Given the description of an element on the screen output the (x, y) to click on. 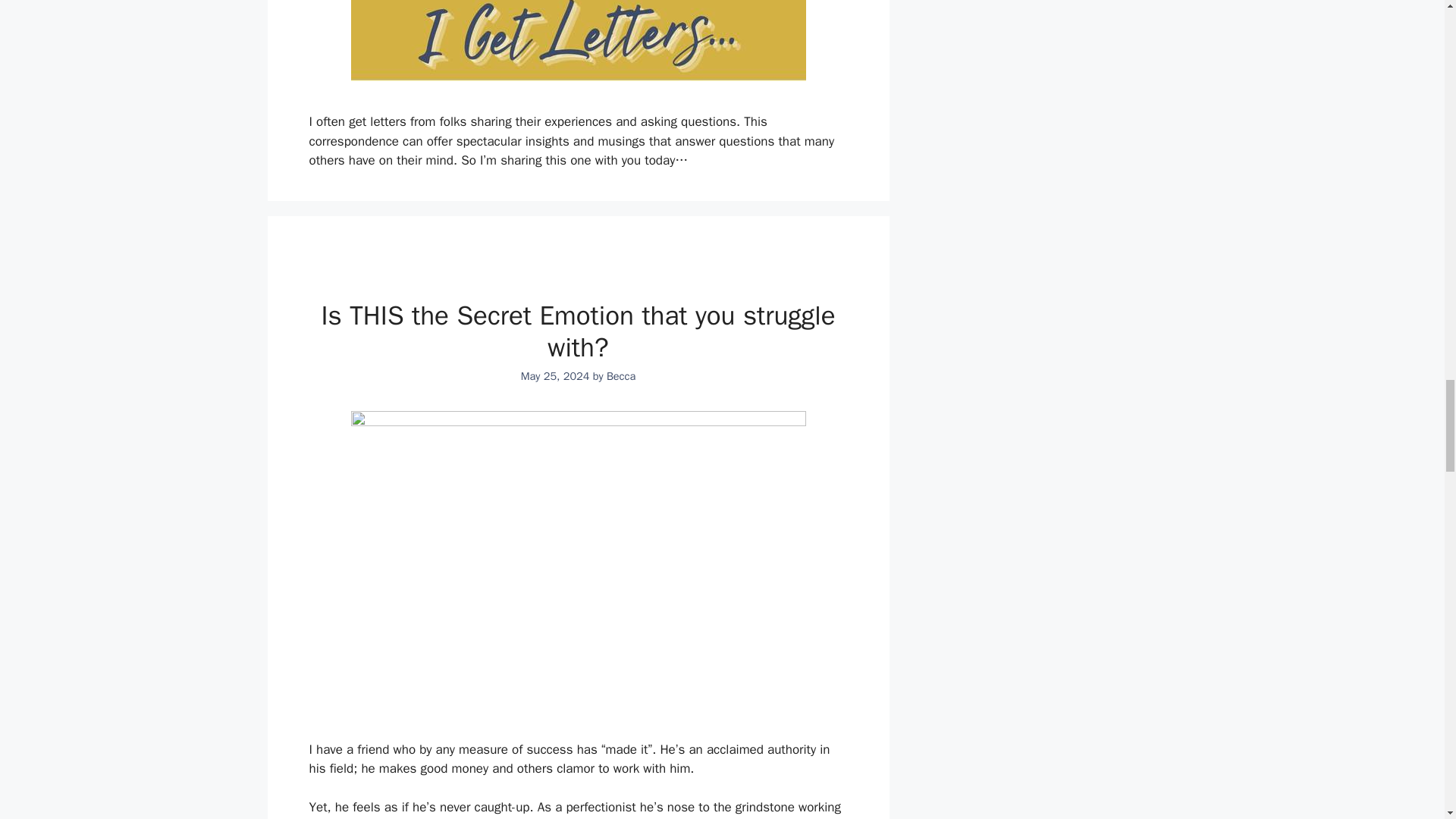
Is THIS the Secret Emotion that you struggle with? (577, 330)
View all posts by Becca (620, 376)
